Given the description of an element on the screen output the (x, y) to click on. 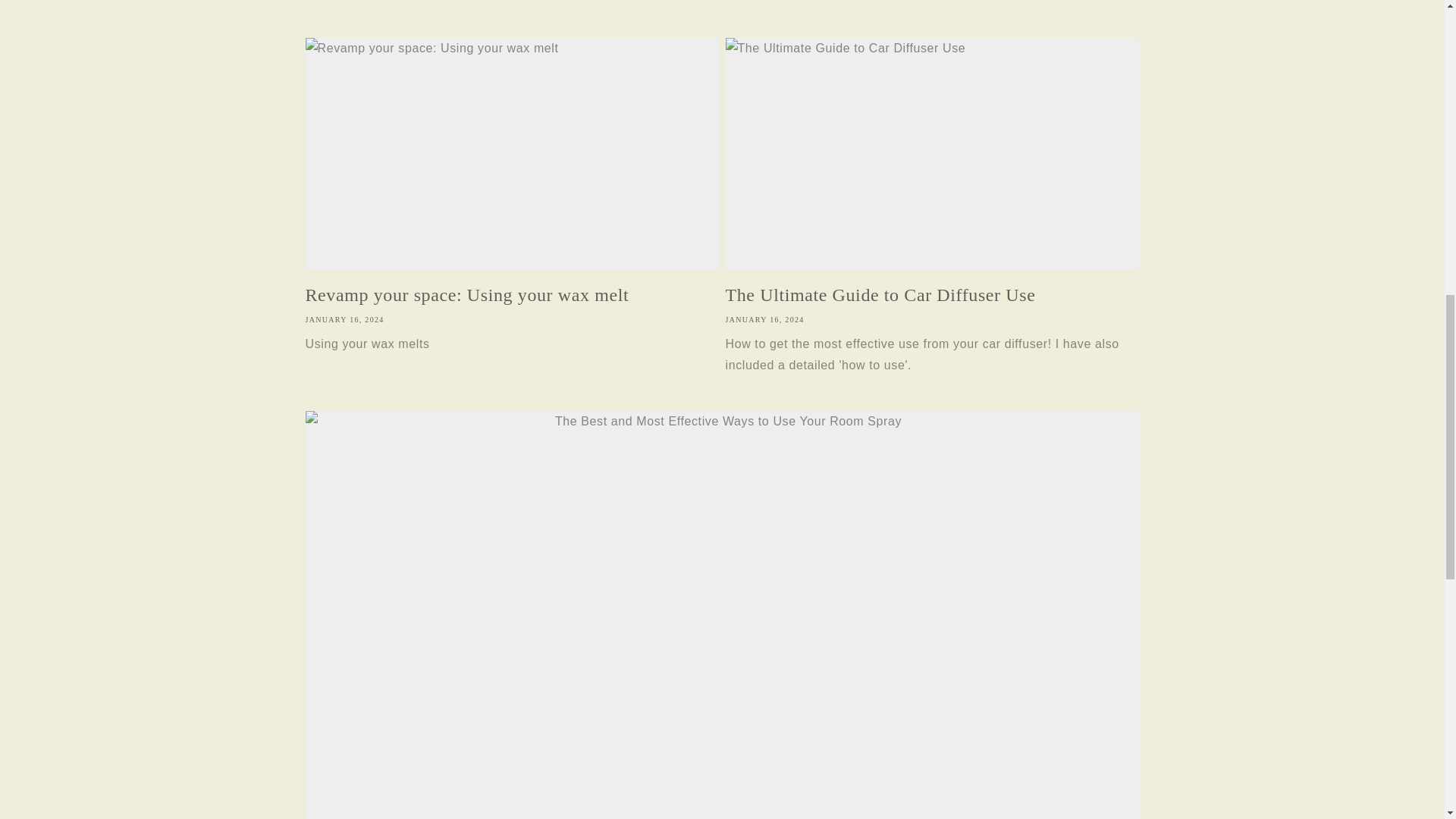
Revamp your space: Using your wax melt (511, 295)
The Ultimate Guide to Car Diffuser Use (931, 295)
